Given the description of an element on the screen output the (x, y) to click on. 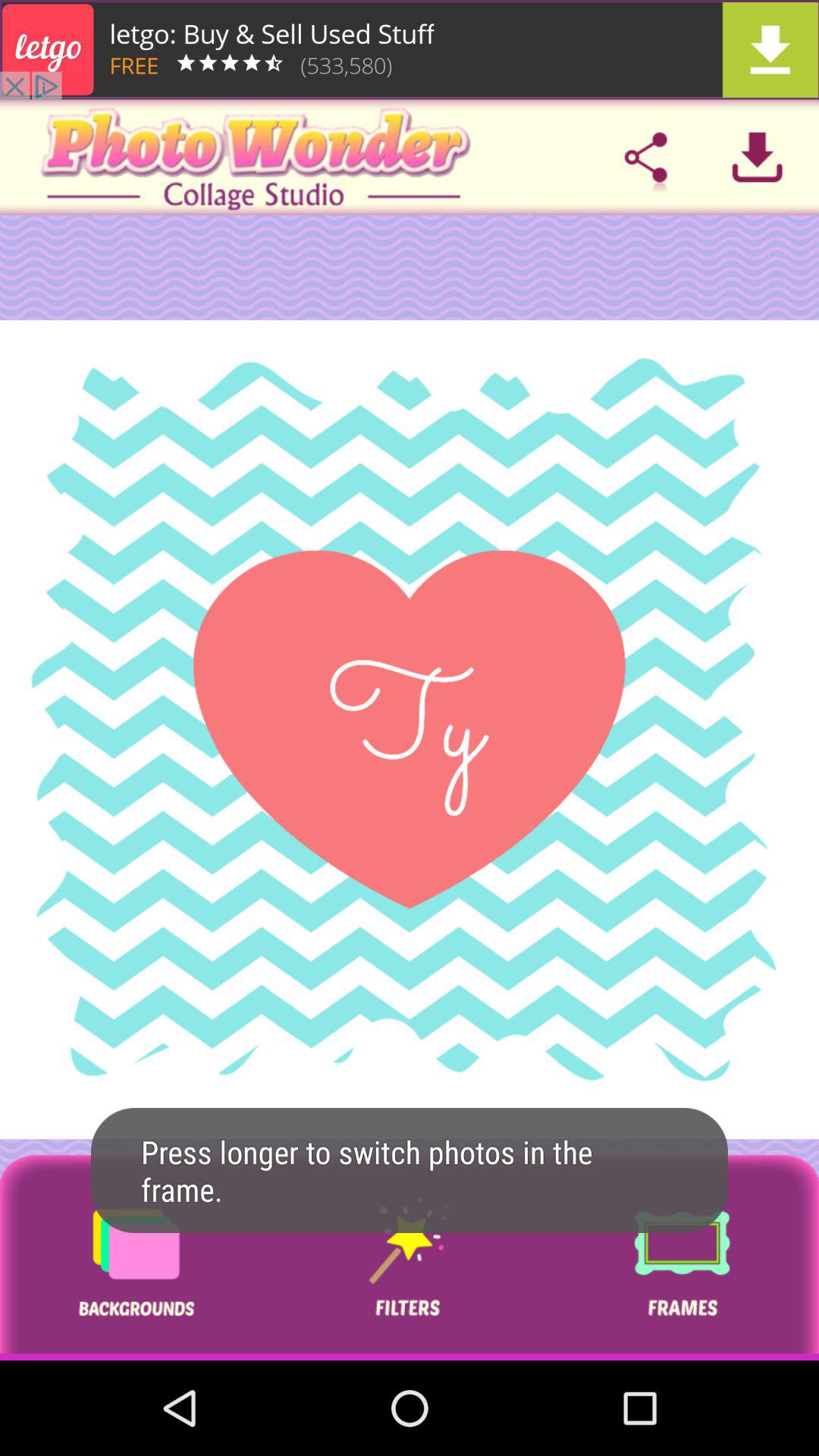
go to advertisement (135, 1257)
